Given the description of an element on the screen output the (x, y) to click on. 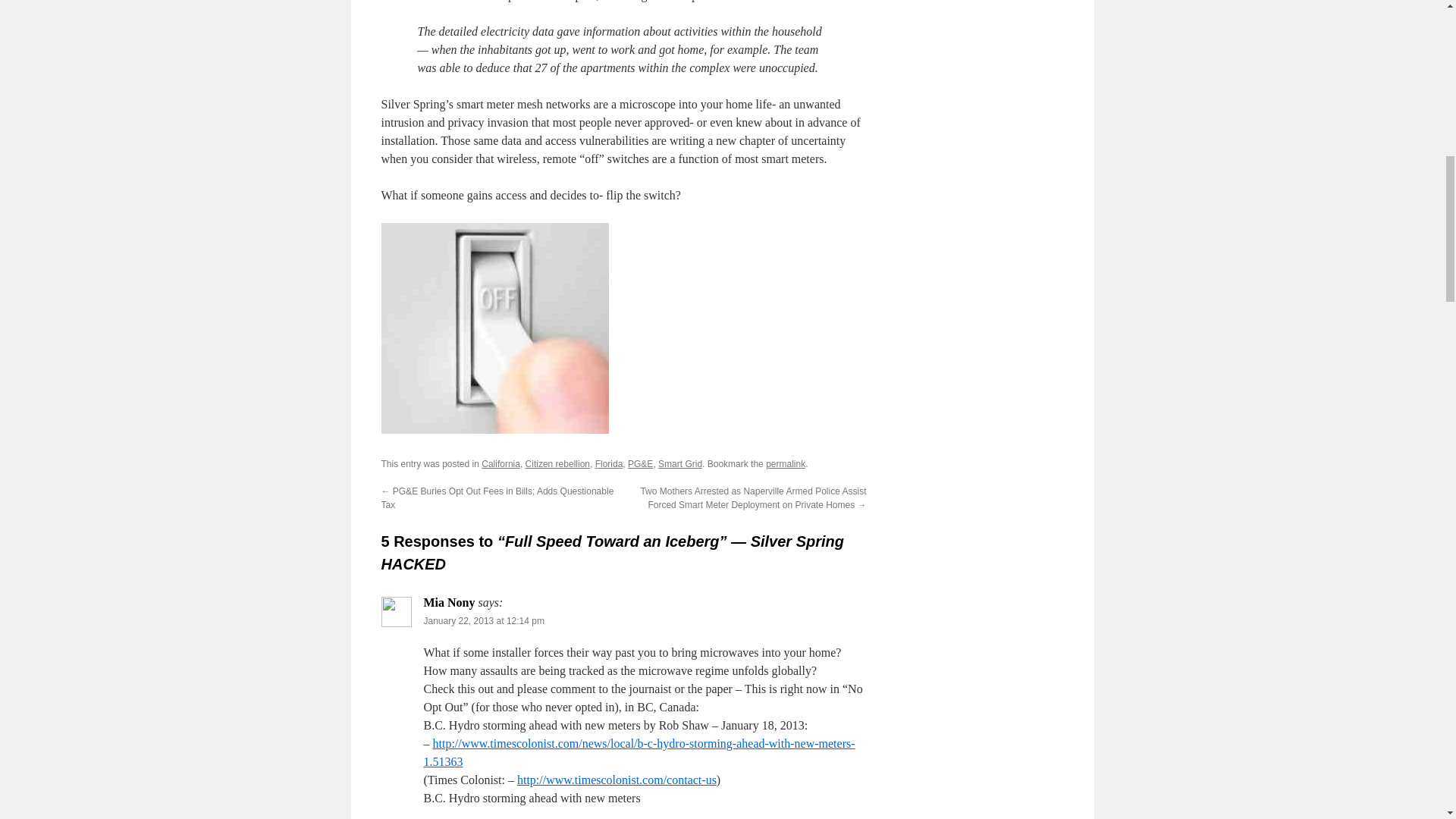
January 22, 2013 at 12:14 pm (483, 620)
Florida (609, 463)
Citizen rebellion (557, 463)
Smart Grid (679, 463)
California (500, 463)
permalink (785, 463)
